Given the description of an element on the screen output the (x, y) to click on. 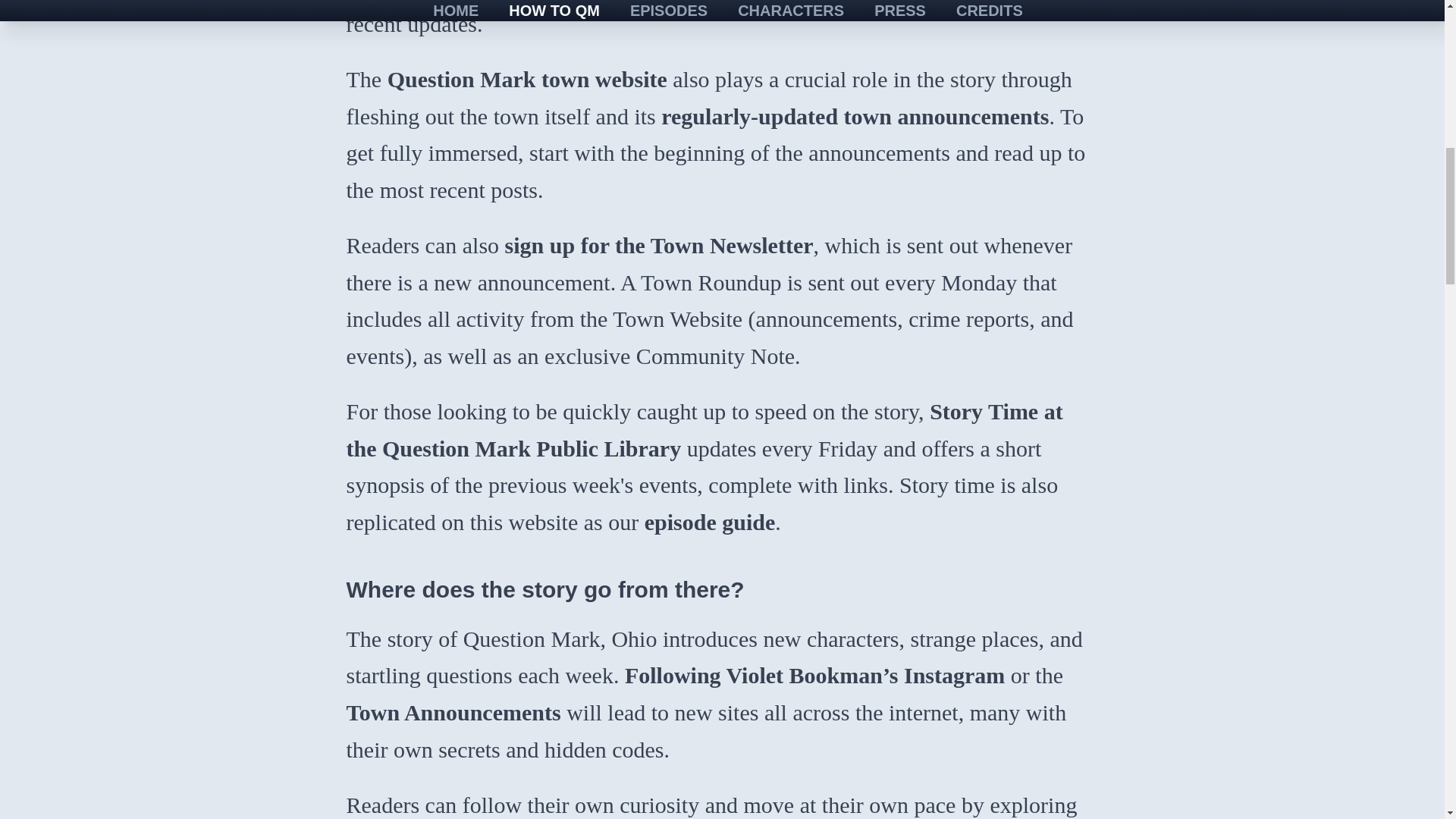
Town Announcements (453, 712)
regularly-updated town announcements (854, 115)
Question Mark town website (526, 78)
Story Time at the Question Mark Public Library (704, 429)
sign up for the Town Newsletter (659, 244)
episode guide (710, 521)
